Given the description of an element on the screen output the (x, y) to click on. 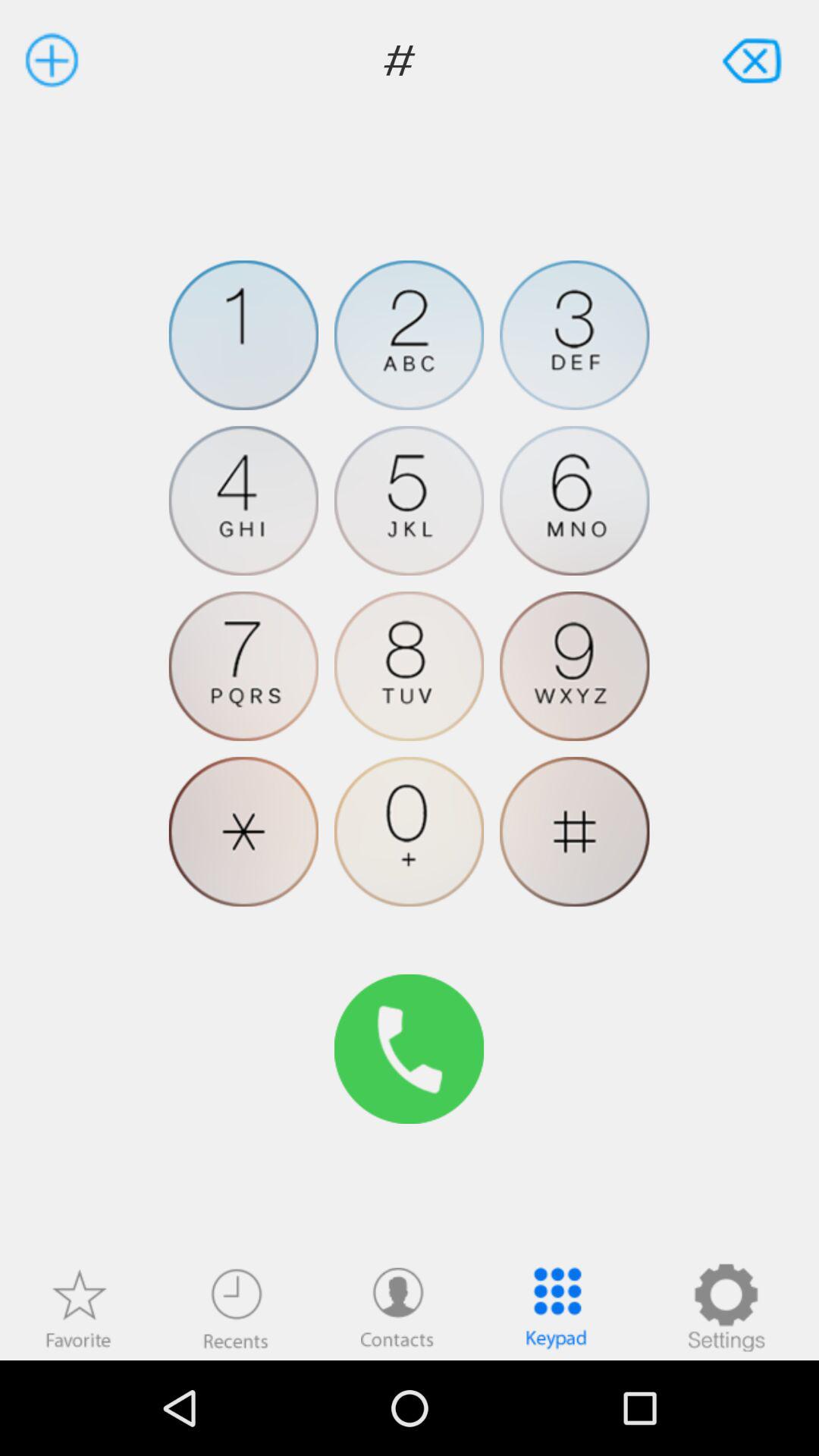
choose the item below # icon (409, 335)
